Given the description of an element on the screen output the (x, y) to click on. 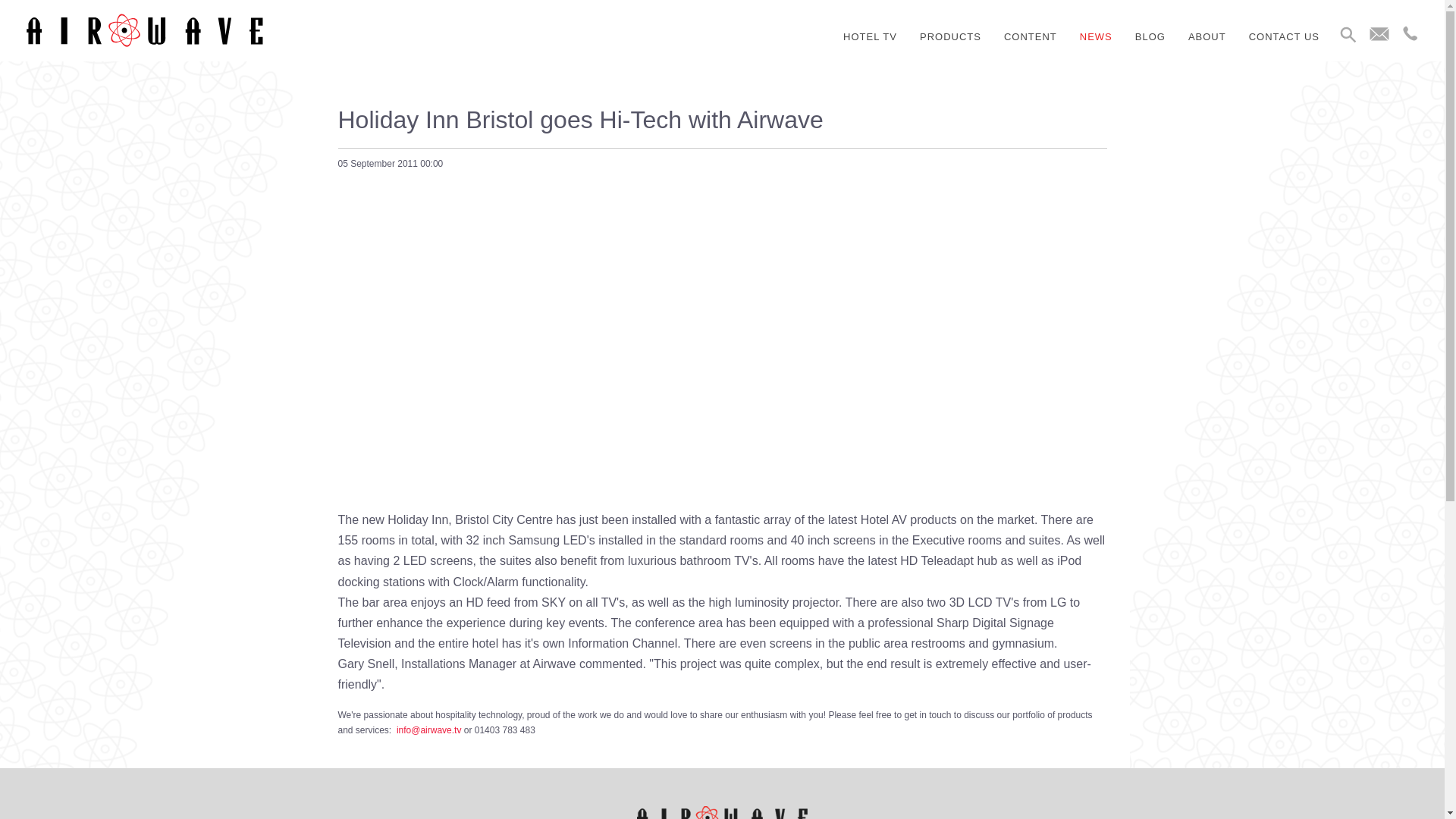
Airwave TV UK's largest supplier of hotel tvs (144, 29)
